Given the description of an element on the screen output the (x, y) to click on. 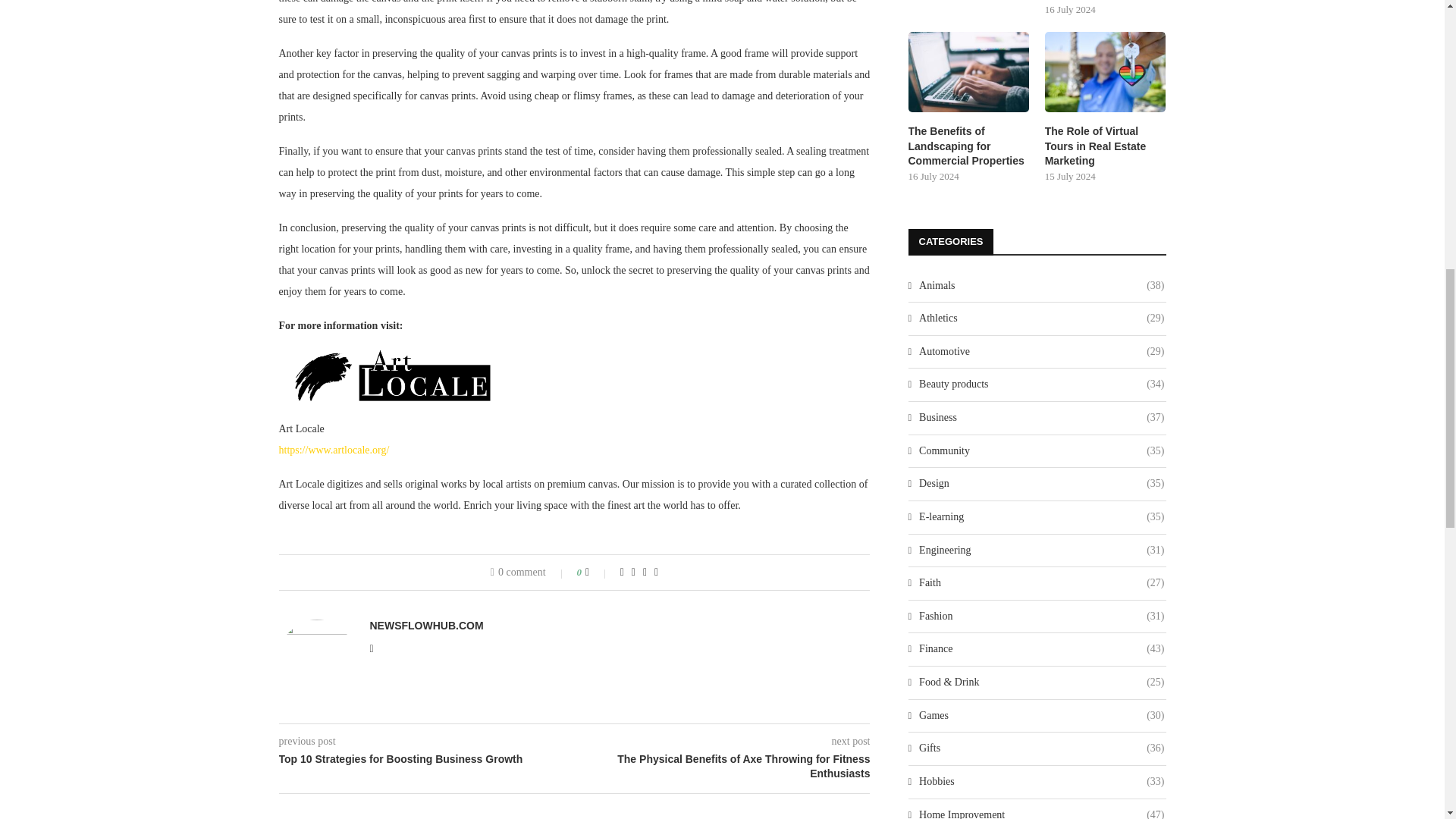
NEWSFLOWHUB.COM (426, 625)
Top 10 Strategies for Boosting Business Growth (427, 759)
Author newsflowhub.com (426, 625)
Like (597, 572)
